Given the description of an element on the screen output the (x, y) to click on. 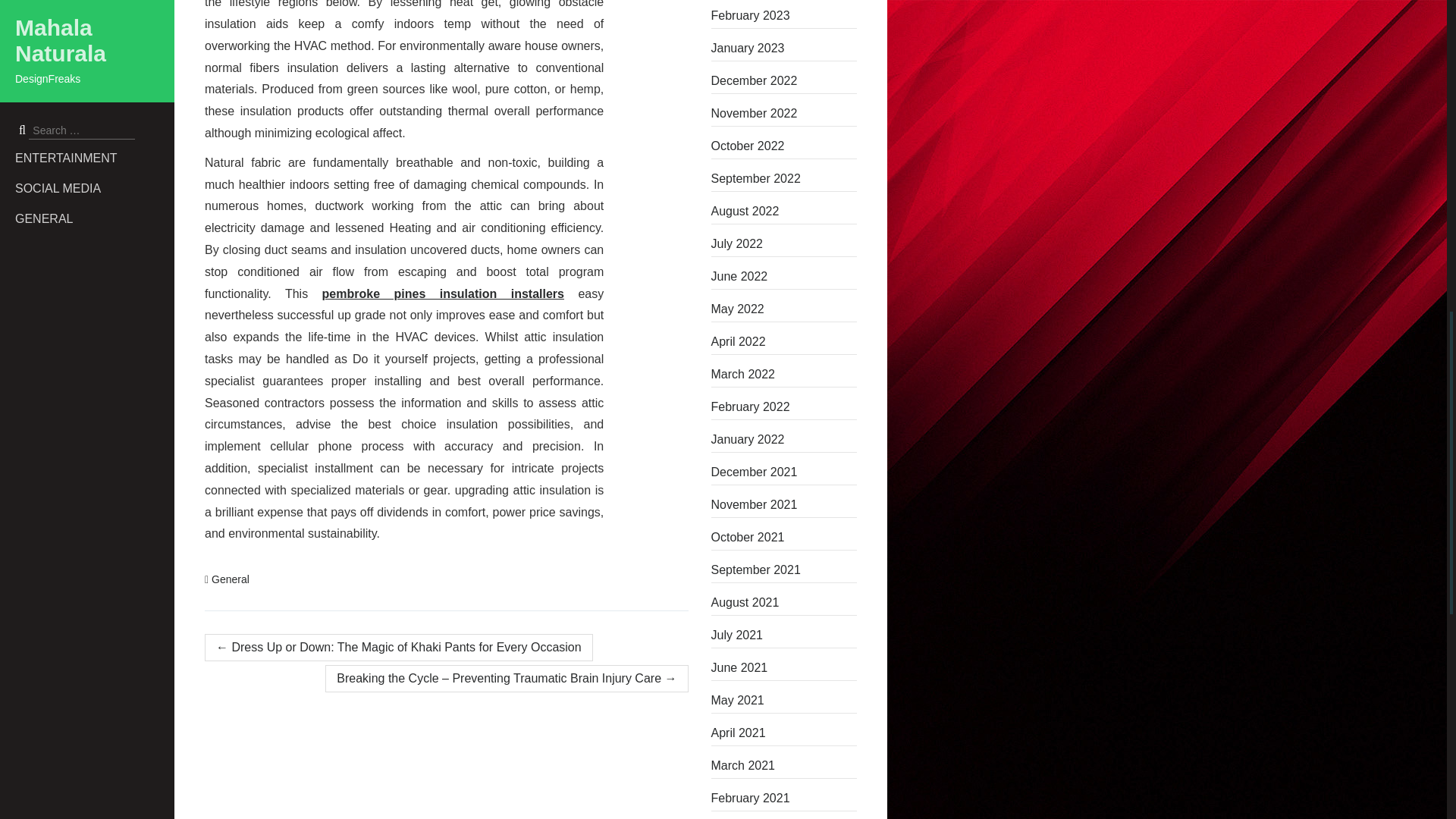
May 2022 (784, 309)
June 2022 (784, 276)
General (229, 579)
August 2022 (784, 211)
October 2022 (784, 146)
July 2022 (784, 243)
pembroke pines insulation installers (442, 293)
February 2023 (784, 15)
December 2022 (784, 80)
September 2022 (784, 178)
January 2023 (784, 48)
November 2022 (784, 113)
